Given the description of an element on the screen output the (x, y) to click on. 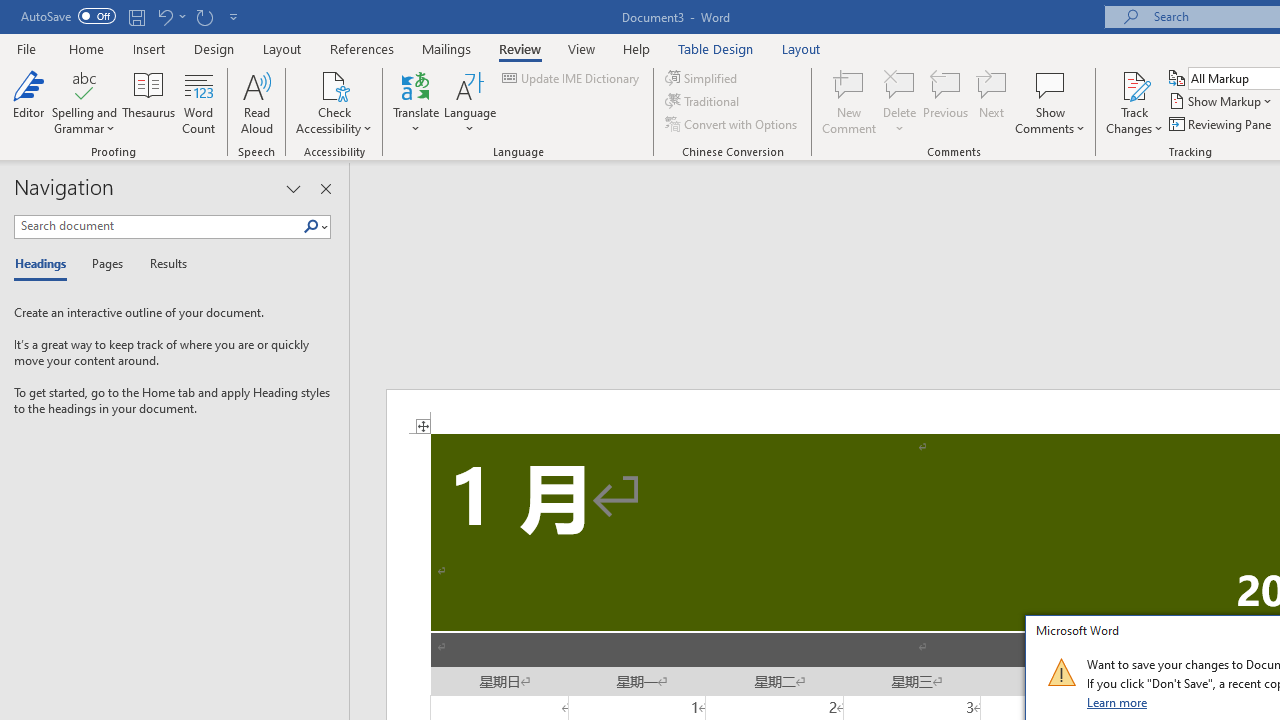
Review (520, 48)
Undo Increase Indent (170, 15)
Show Comments (1050, 84)
Design (214, 48)
Table Design (715, 48)
Traditional (703, 101)
Home (86, 48)
Word Count (198, 102)
Undo Increase Indent (164, 15)
References (362, 48)
Task Pane Options (293, 188)
Thesaurus... (148, 102)
Show Markup (1222, 101)
Mailings (447, 48)
Search (315, 227)
